Given the description of an element on the screen output the (x, y) to click on. 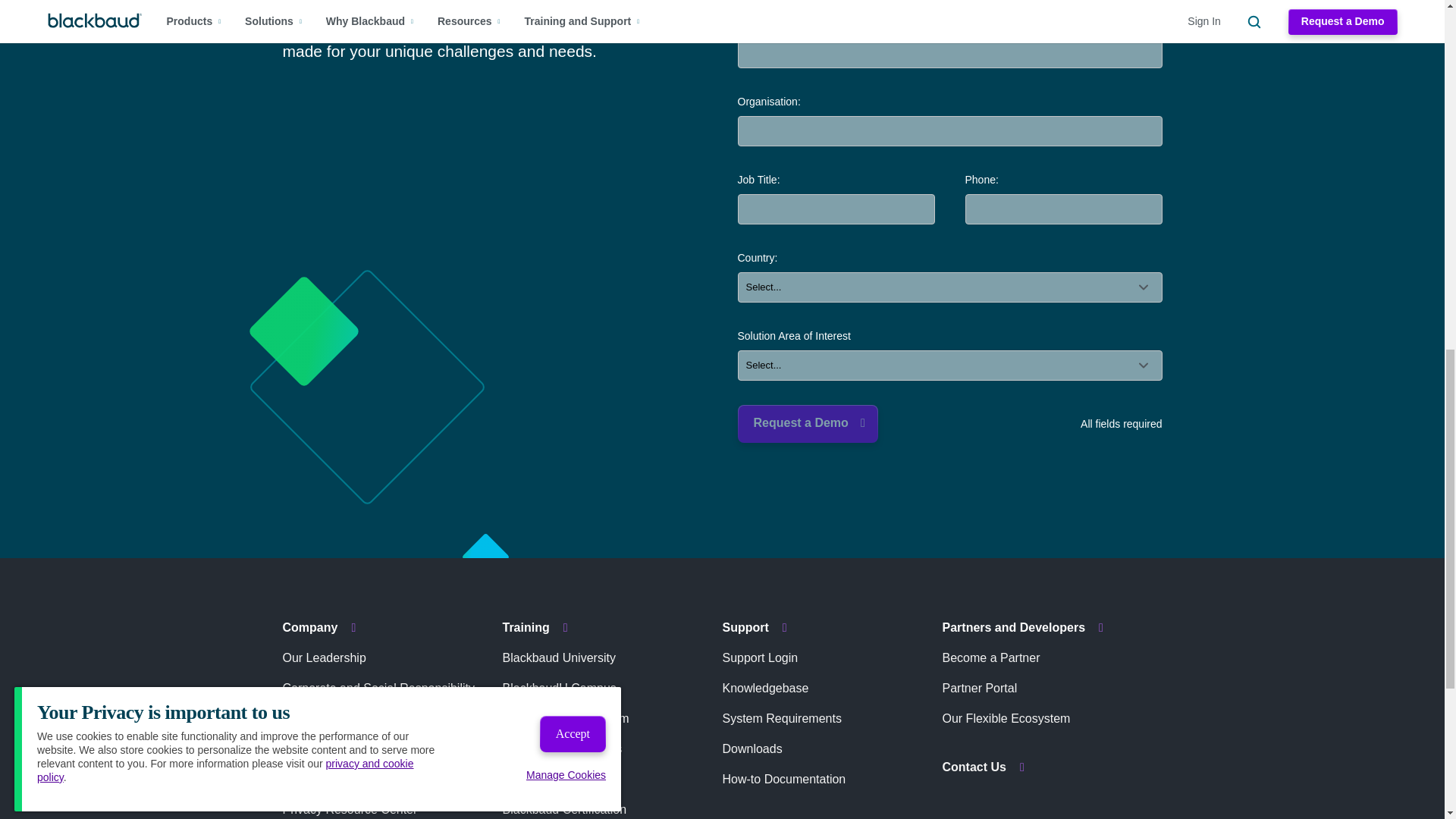
Country (948, 286)
